Given the description of an element on the screen output the (x, y) to click on. 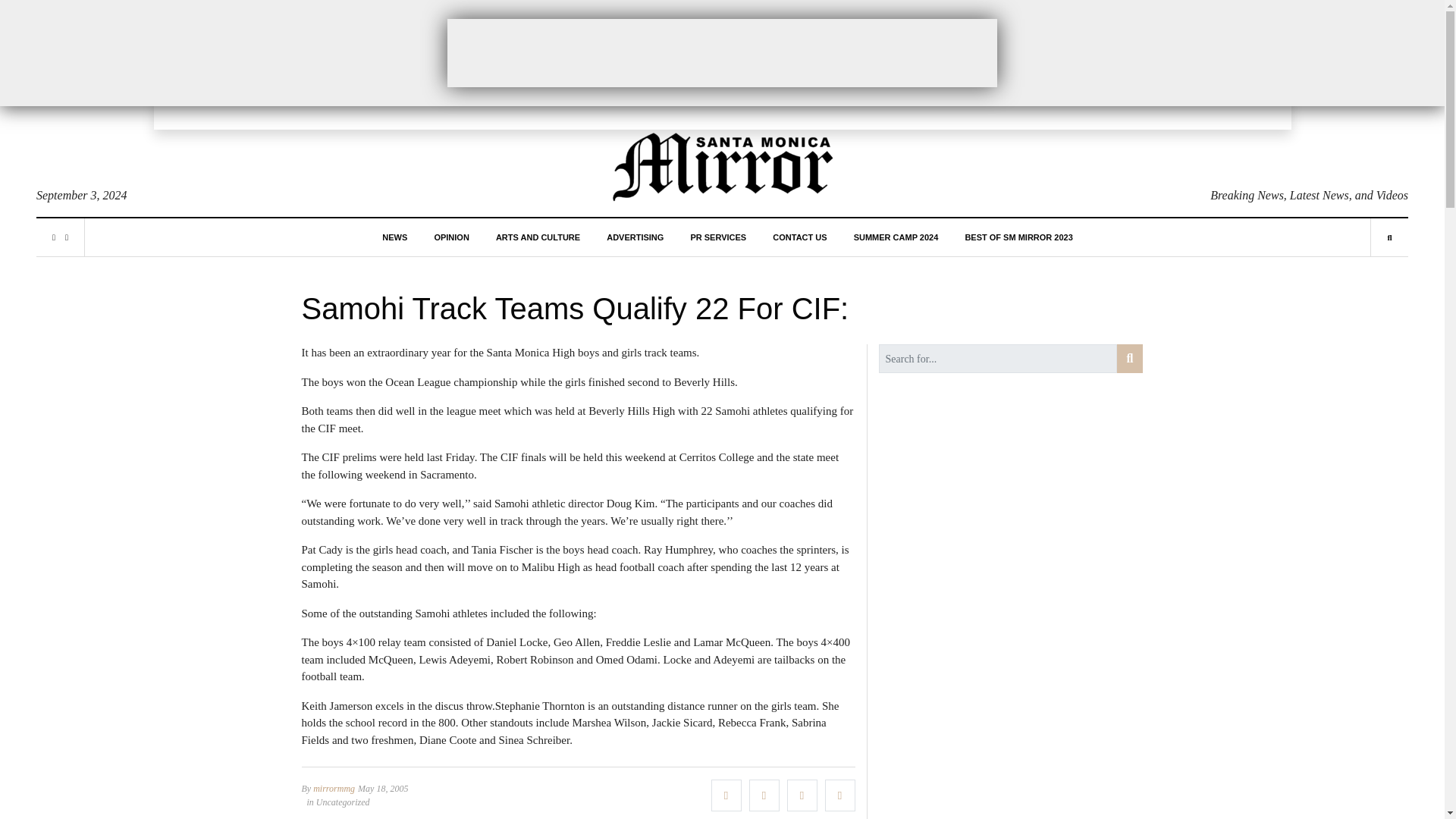
BEST OF SM MIRROR 2023 (1017, 237)
PR SERVICES (717, 237)
CONTACT US (800, 237)
3rd party ad content (721, 52)
OPINION (450, 237)
SUMMER CAMP 2024 (896, 237)
ARTS AND CULTURE (537, 237)
mirrormmg (334, 787)
Posts by mirrormmg (334, 787)
ADVERTISING (635, 237)
